Given the description of an element on the screen output the (x, y) to click on. 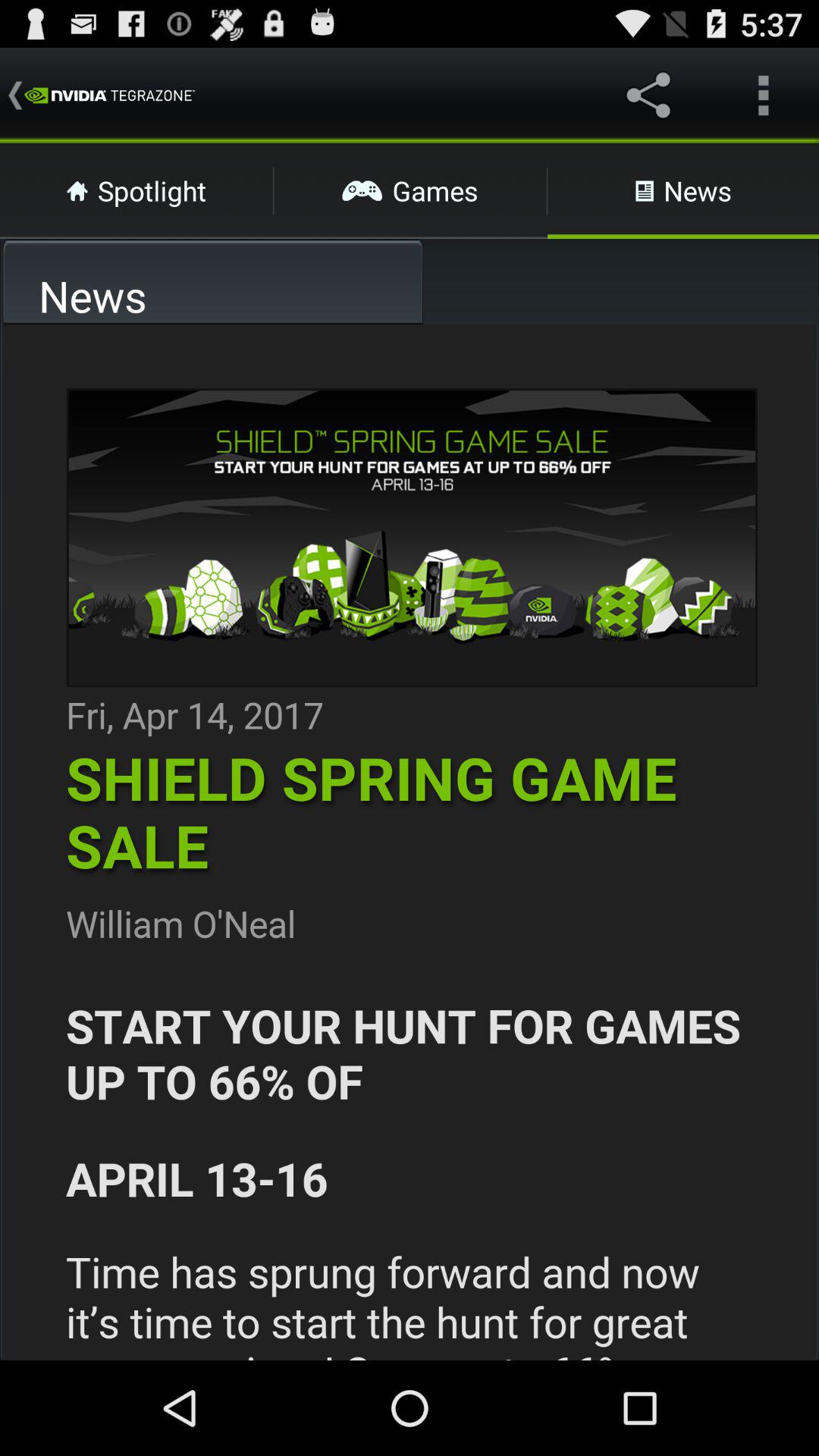
go to link (409, 842)
